Given the description of an element on the screen output the (x, y) to click on. 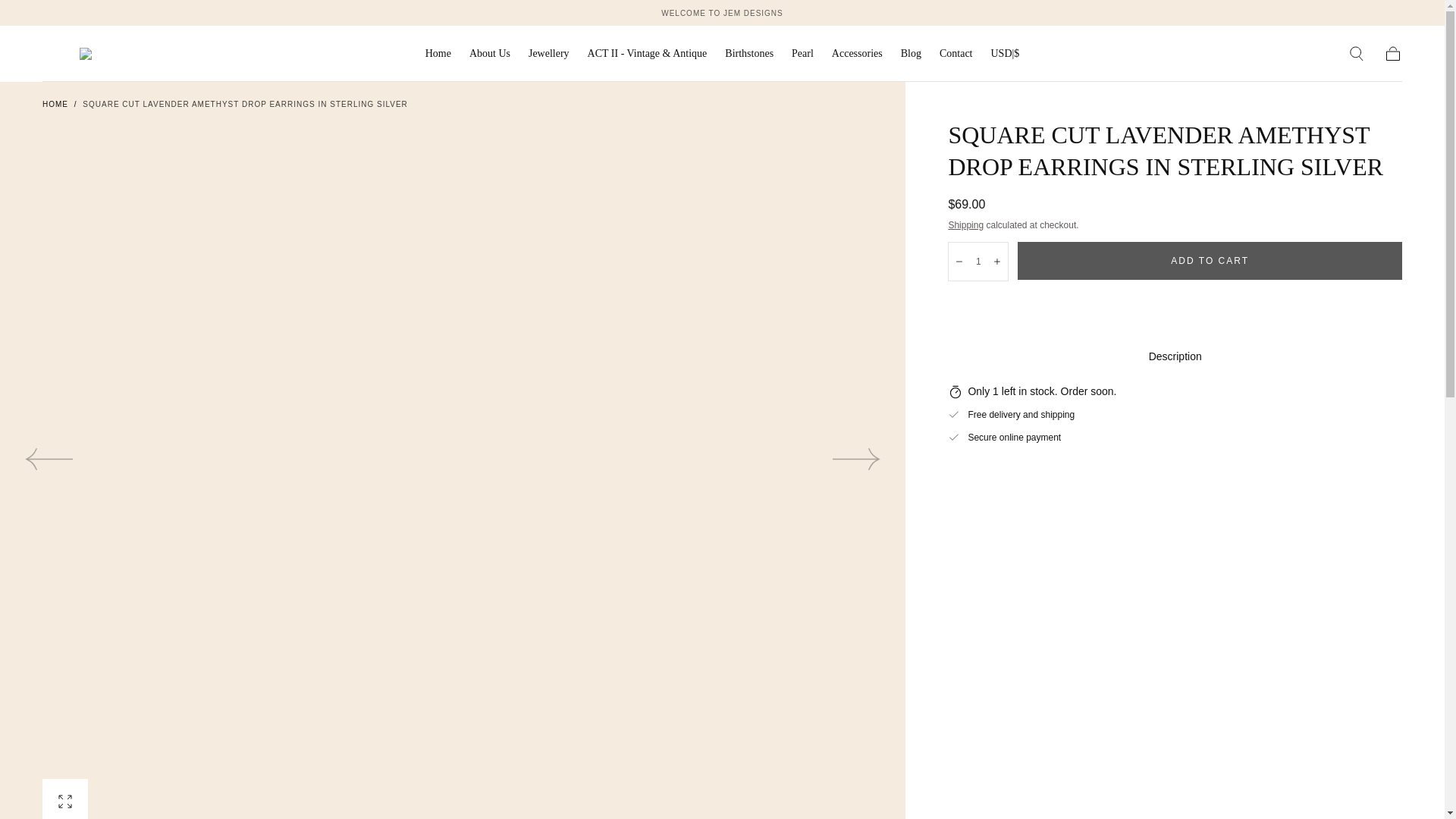
Cart (1393, 54)
WELCOME TO JEM DESIGNS (722, 13)
1 (978, 261)
SKIP TO CONTENT (67, 18)
All products (722, 13)
